Given the description of an element on the screen output the (x, y) to click on. 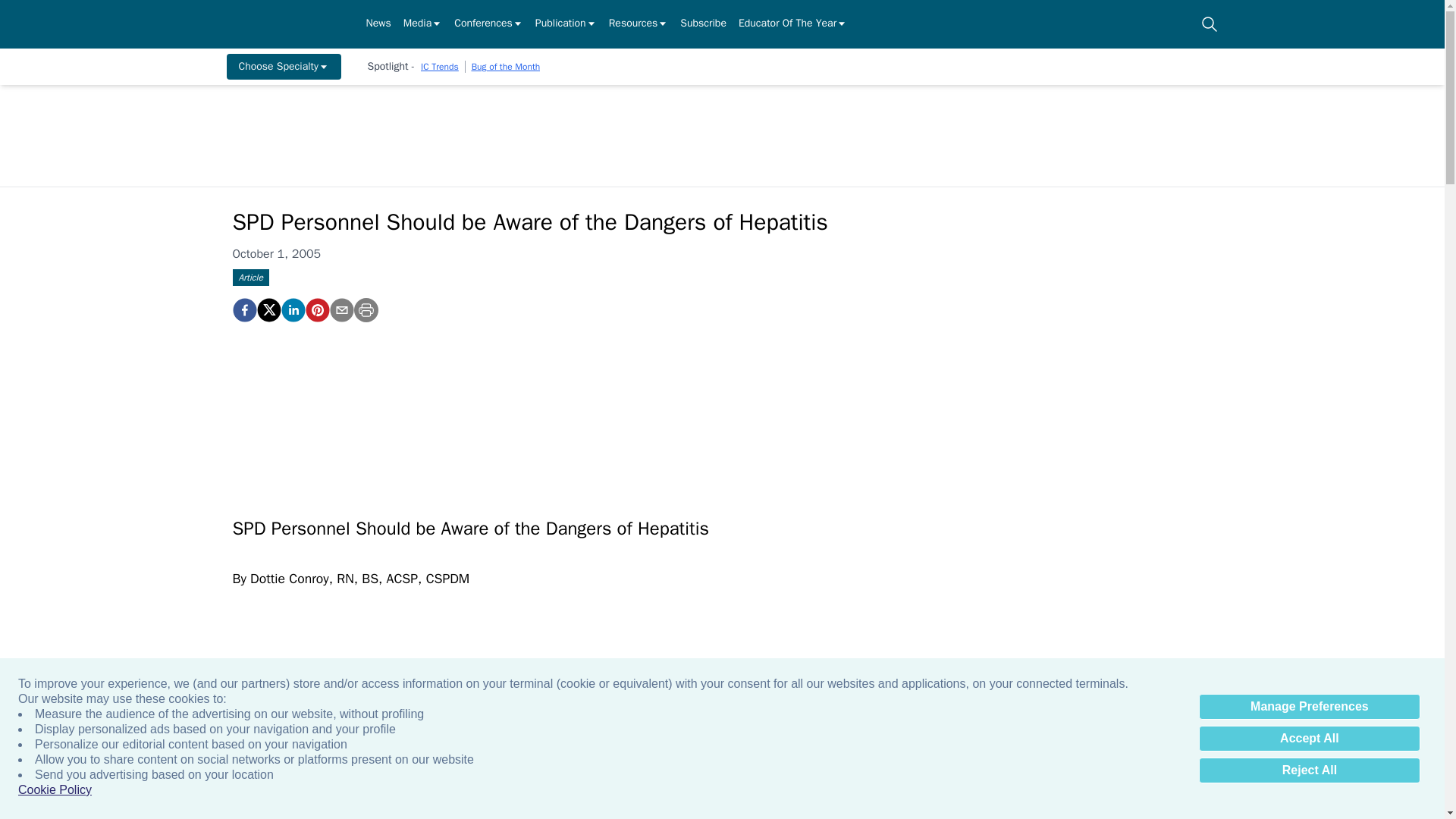
News (377, 23)
Conferences (488, 23)
Cookie Policy (54, 789)
Manage Preferences (1309, 706)
Resources (638, 23)
Reject All (1309, 769)
SPD Personnel Should be Aware of the Dangers of Hepatitis (316, 310)
Media (422, 23)
Choose Specialty (282, 66)
Publication (565, 23)
